Given the description of an element on the screen output the (x, y) to click on. 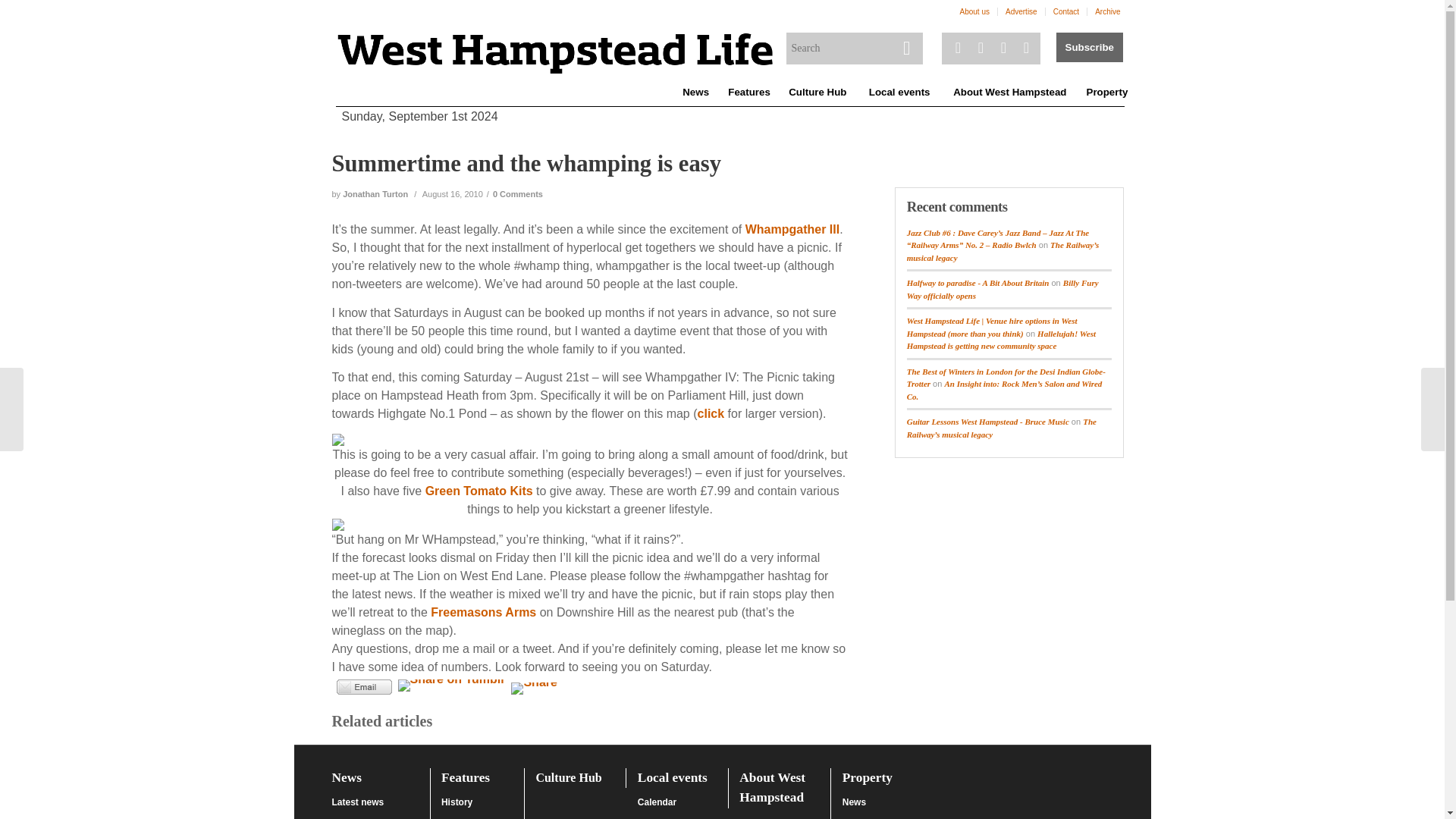
Local events (898, 92)
Permanent Link: Summertime and the whamping is easy (526, 163)
Features (747, 92)
Culture Hub (817, 92)
Archive (1106, 11)
Property (1105, 92)
About West Hampstead (1008, 92)
Share via email (363, 686)
About us (974, 11)
Contact (1065, 11)
